Given the description of an element on the screen output the (x, y) to click on. 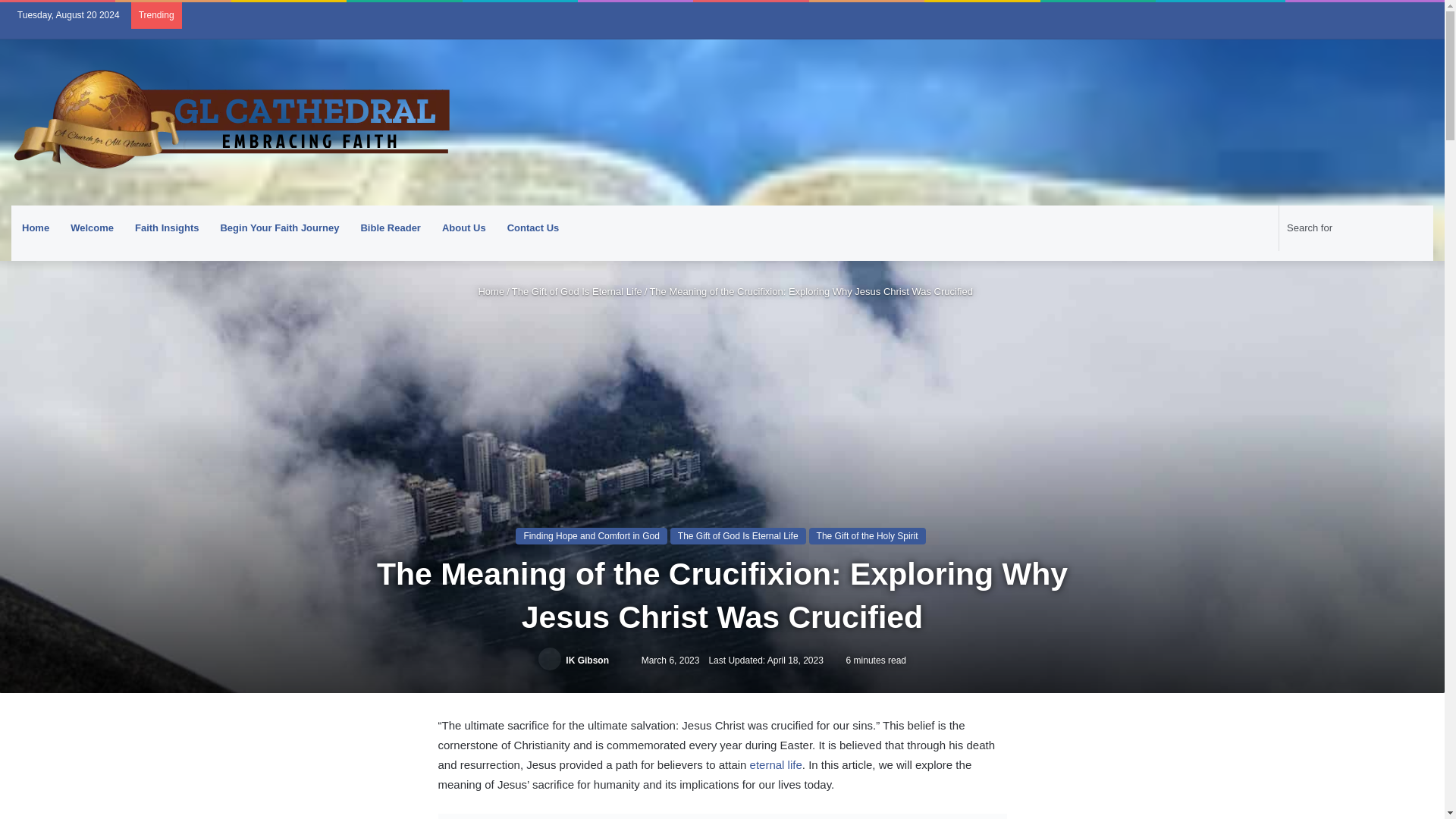
Home (35, 227)
Contact Us (533, 227)
The Gift of God Is Eternal Life (577, 291)
The Gift of the Holy Spirit (867, 535)
IK Gibson (587, 660)
Welcome (91, 227)
Faith Insights (166, 227)
God Liberation Cathedral (230, 122)
IK Gibson (587, 660)
The Gift of God Is Eternal Life (737, 535)
